Given the description of an element on the screen output the (x, y) to click on. 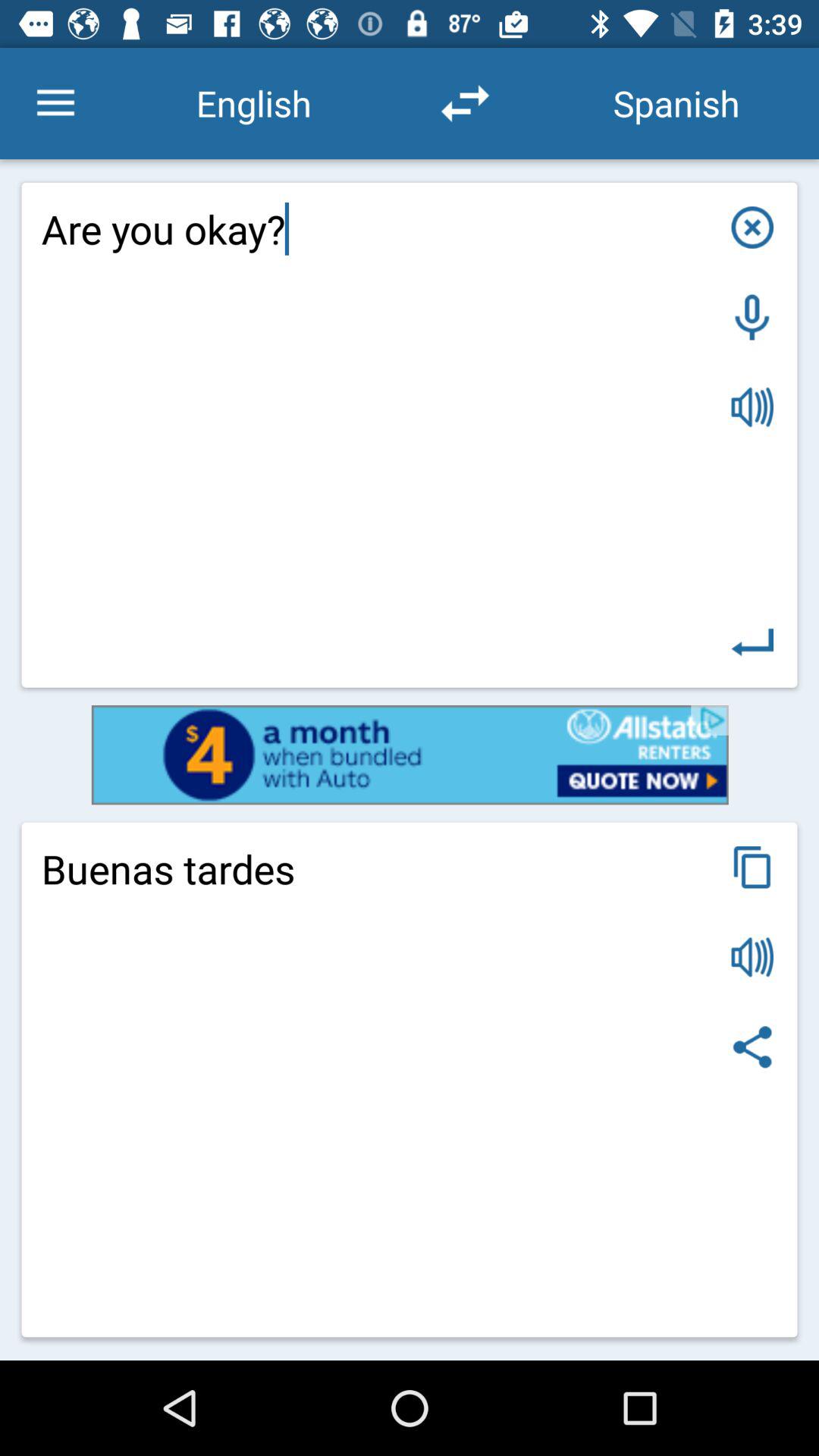
back ward (752, 642)
